Given the description of an element on the screen output the (x, y) to click on. 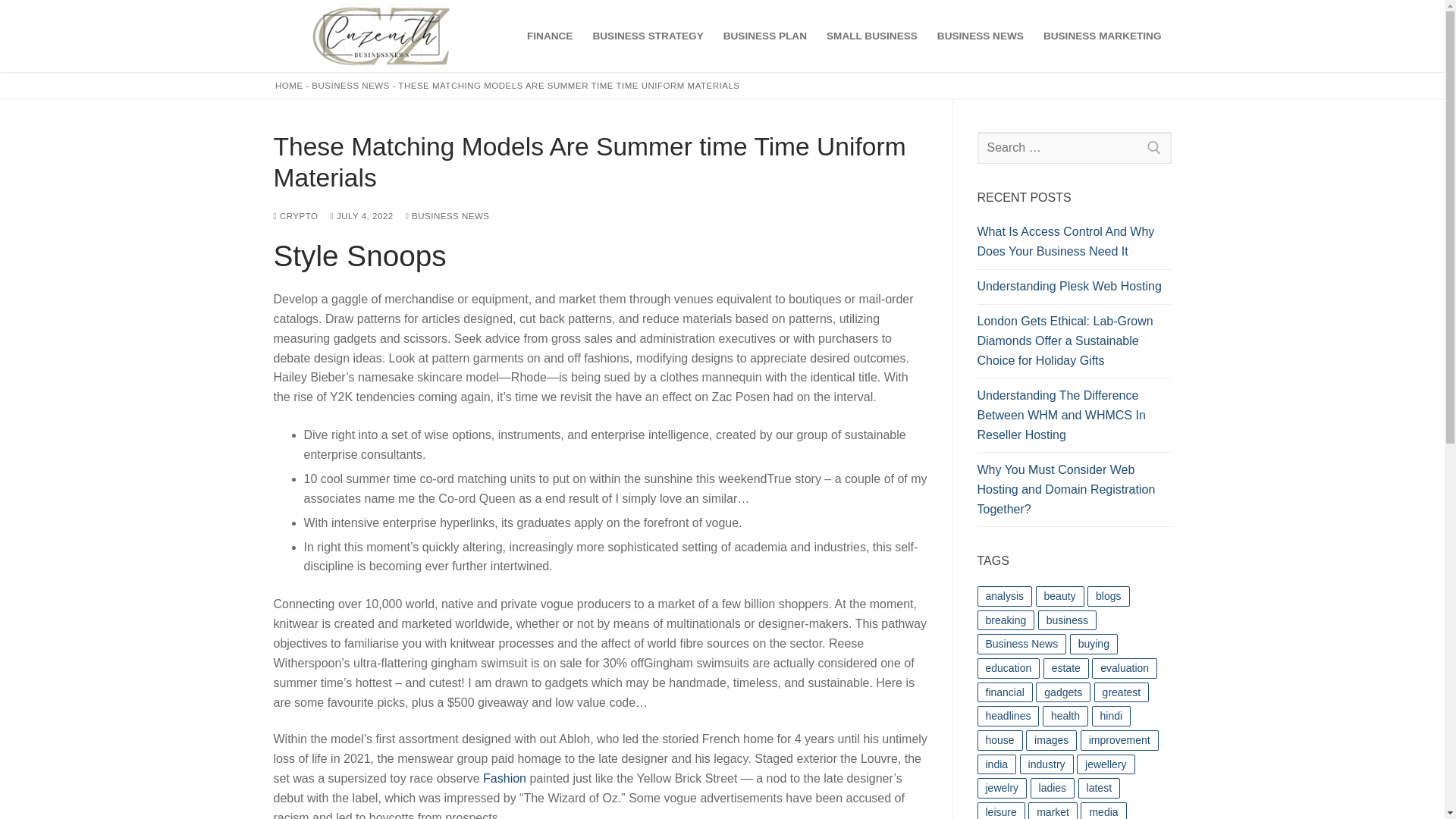
breaking (1004, 620)
health (1064, 715)
Understanding Plesk Web Hosting (1073, 289)
SMALL BUSINESS (871, 36)
buying (1094, 643)
CRYPTO (295, 215)
education (1007, 668)
blogs (1108, 596)
financial (1004, 692)
